Given the description of an element on the screen output the (x, y) to click on. 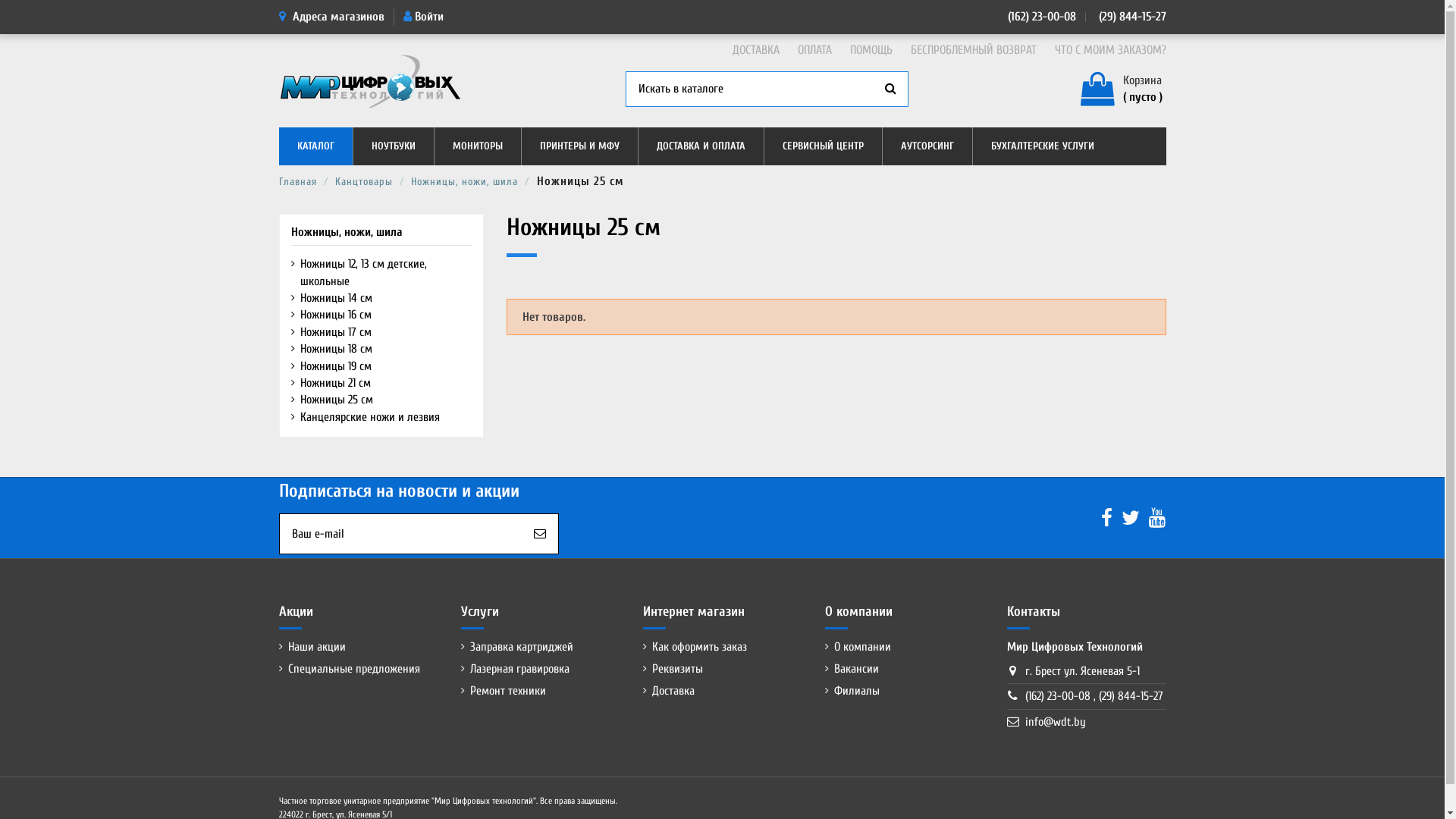
(162) 23-00-08 , (29) 844-15-27 Element type: text (1094, 695)
info@wdt.by Element type: text (1055, 721)
(162) 23-00-08 Element type: text (1041, 16)
(29) 844-15-27 Element type: text (1130, 16)
